Given the description of an element on the screen output the (x, y) to click on. 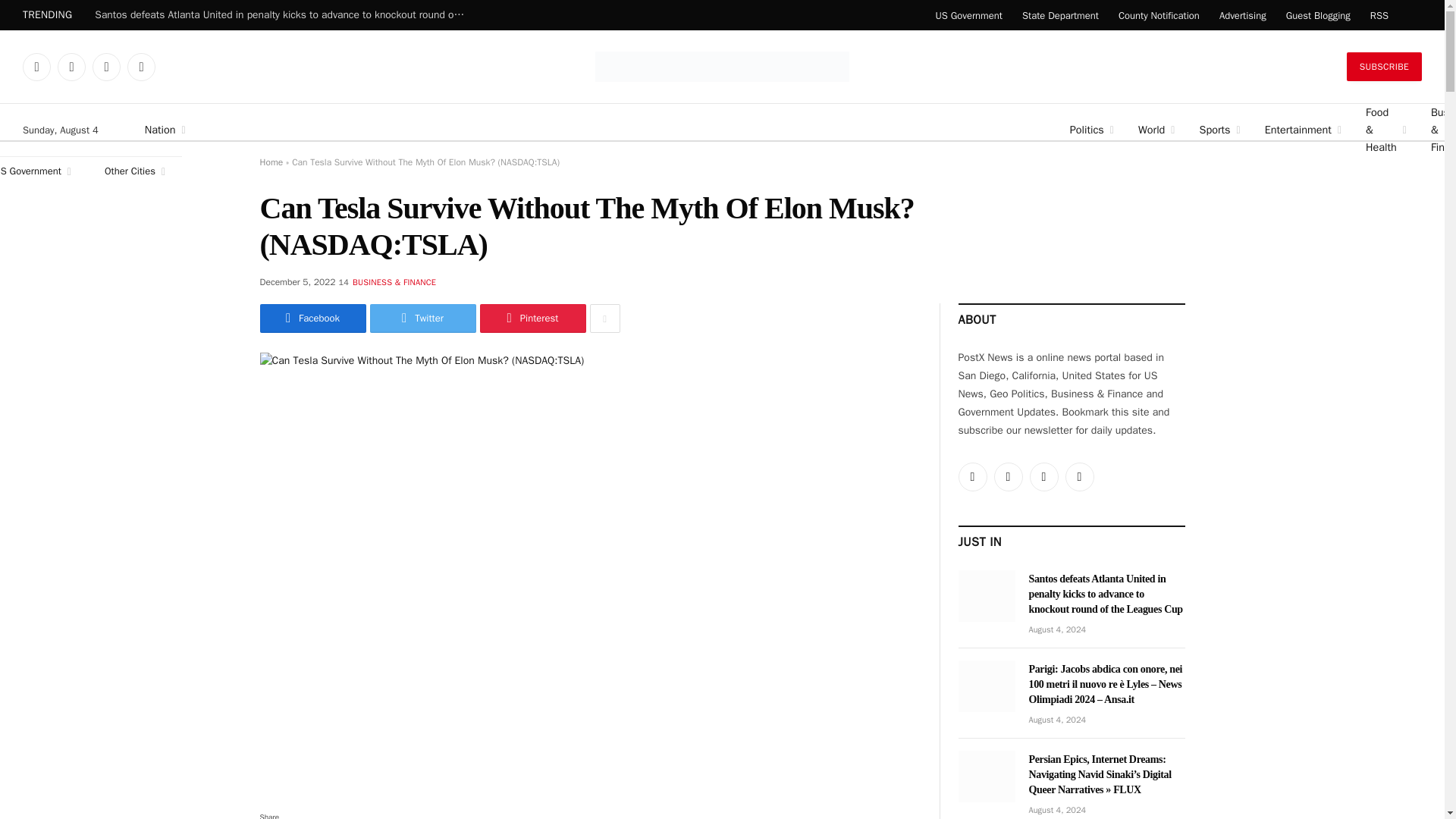
Facebook (71, 67)
Switch to Light Design. (1418, 15)
RSS (141, 67)
Advertising (1242, 15)
County Notification (1158, 15)
Guest Blogging (1317, 15)
US Government (967, 15)
PostX News (721, 66)
Nation (595, 130)
RSS (1378, 15)
Instagram (106, 67)
Switch to Dark Design - easier on eyes. (1412, 15)
SUBSCRIBE (1384, 66)
State Department (1059, 15)
